Given the description of an element on the screen output the (x, y) to click on. 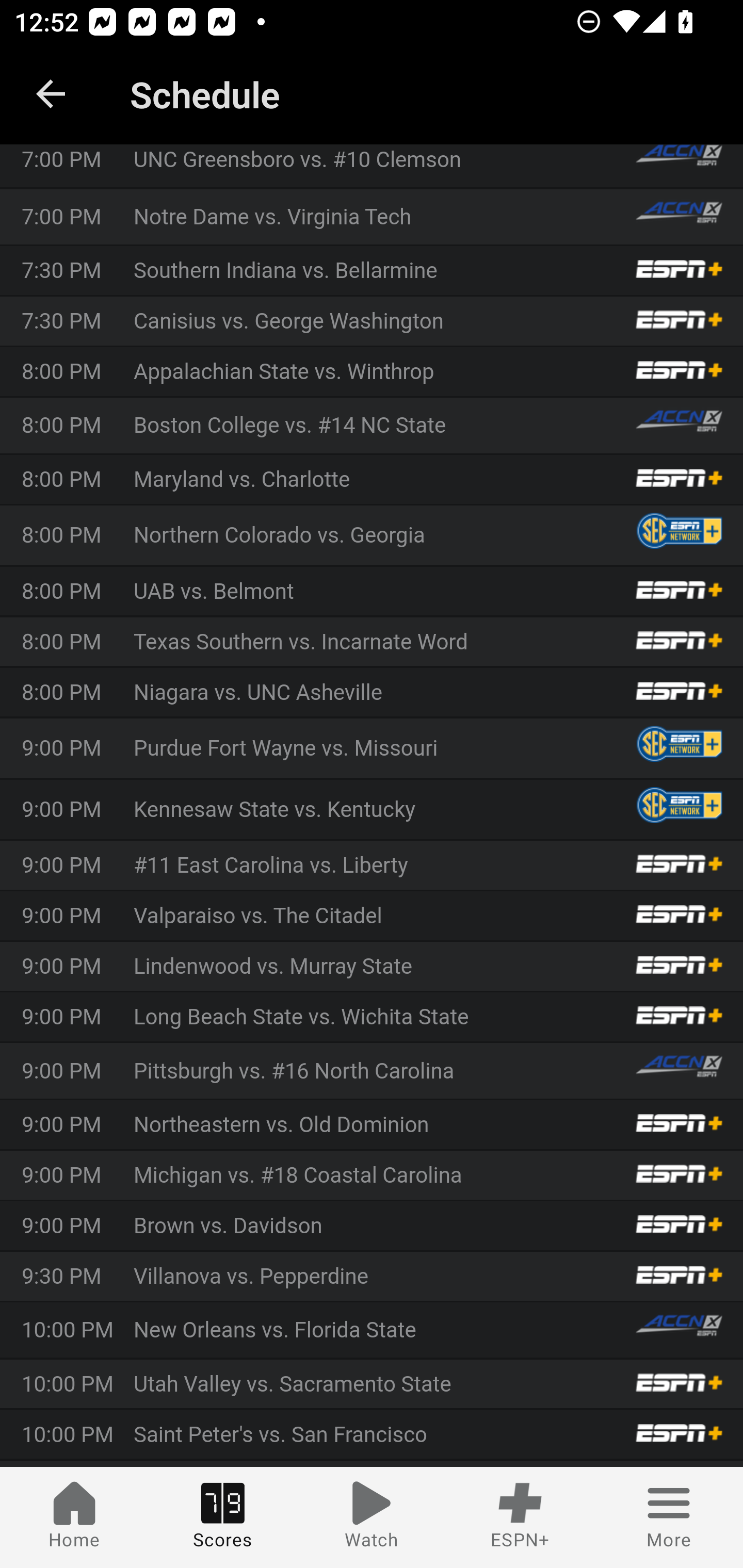
back.button (50, 93)
Home (74, 1517)
Watch (371, 1517)
ESPN+ (519, 1517)
More (668, 1517)
